Given the description of an element on the screen output the (x, y) to click on. 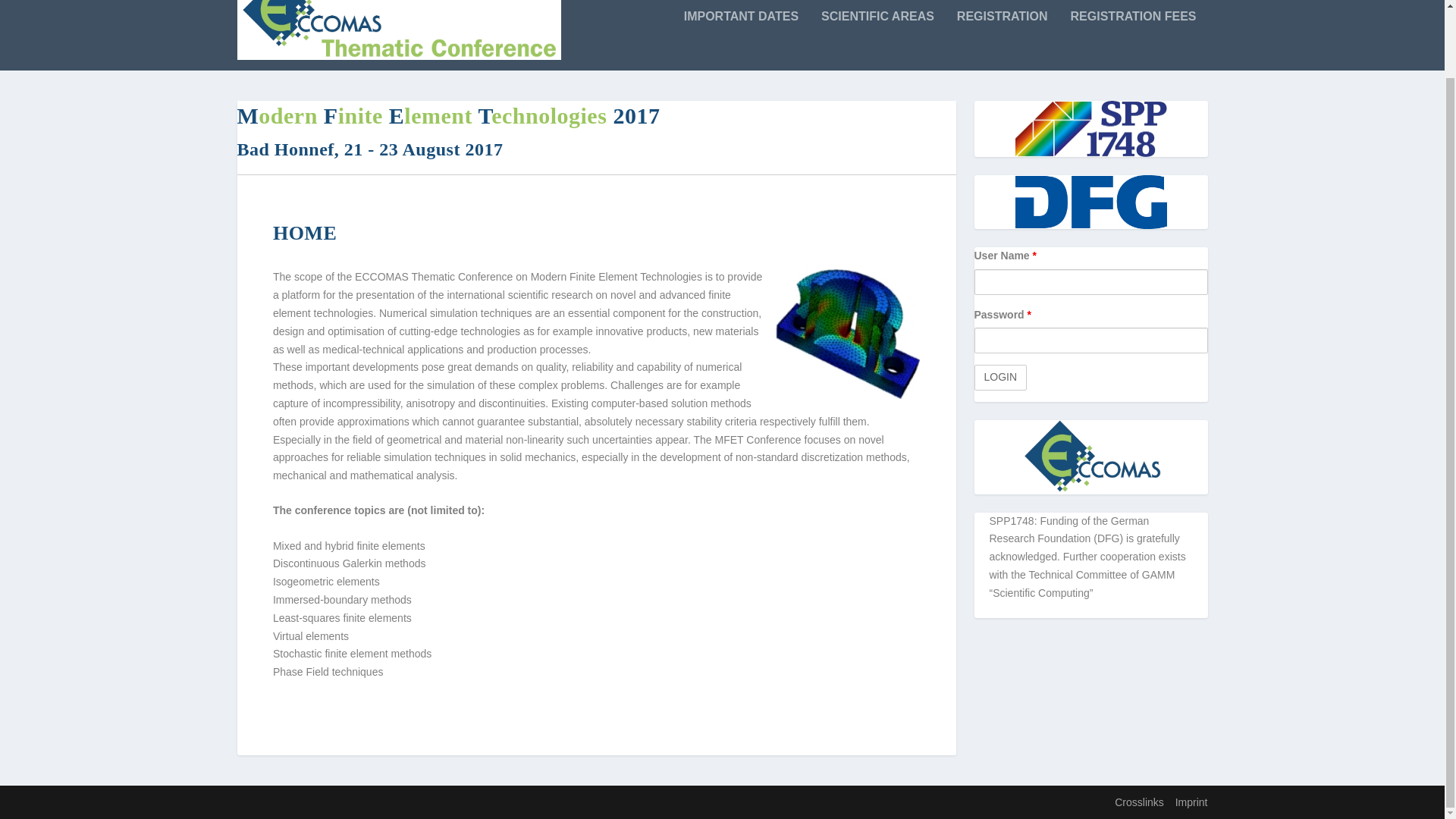
REGISTRATION (1002, 40)
Imprint (1191, 802)
SCIENTIFIC AREAS (877, 40)
DFG (1090, 201)
Crosslinks (1139, 802)
Login (1000, 377)
Login (1000, 377)
IMPORTANT DATES (740, 40)
REGISTRATION FEES (1133, 40)
